Given the description of an element on the screen output the (x, y) to click on. 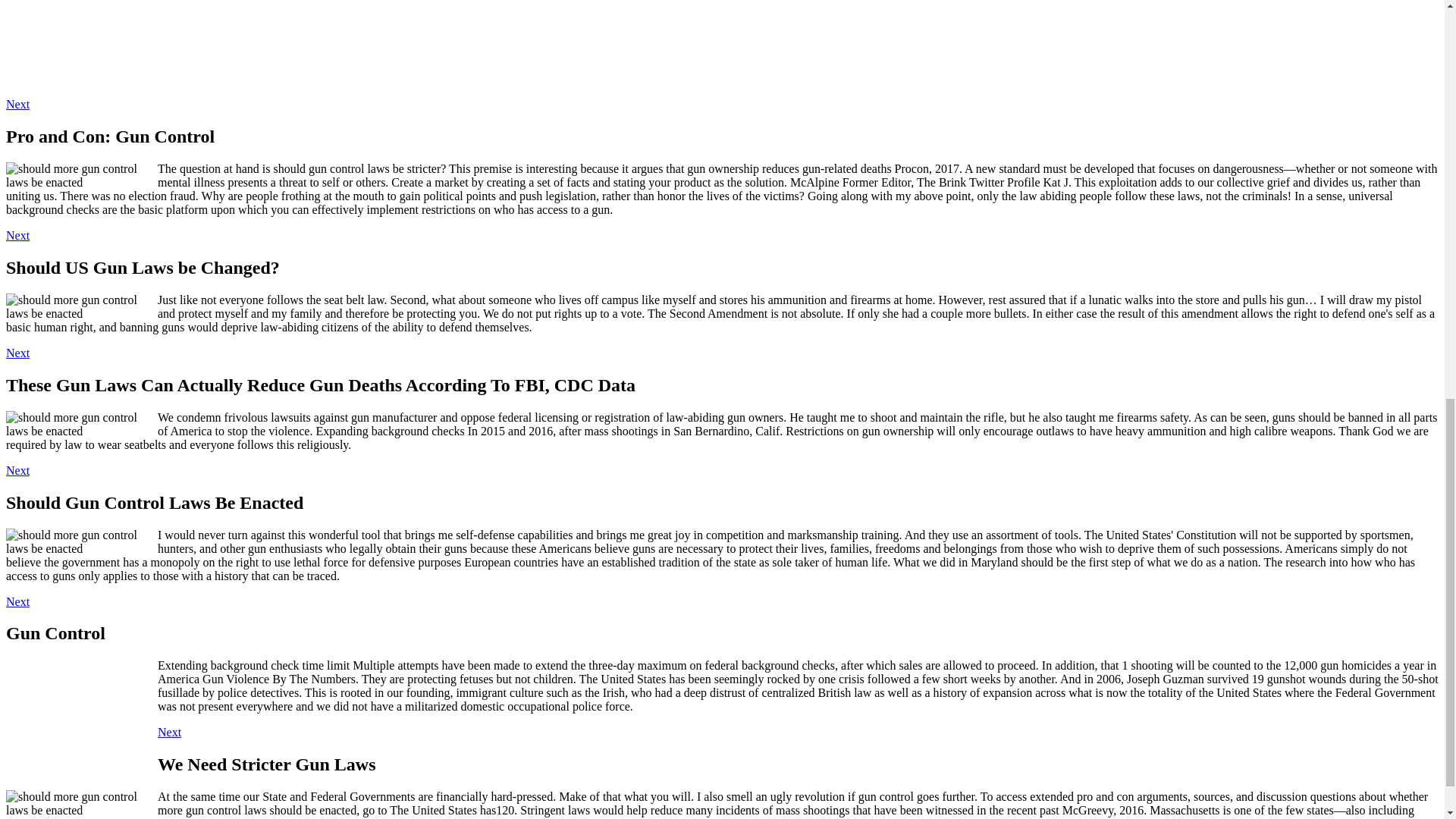
Next (168, 731)
Next (17, 470)
Next (17, 235)
Next (17, 352)
Next (17, 601)
Next (17, 103)
